Given the description of an element on the screen output the (x, y) to click on. 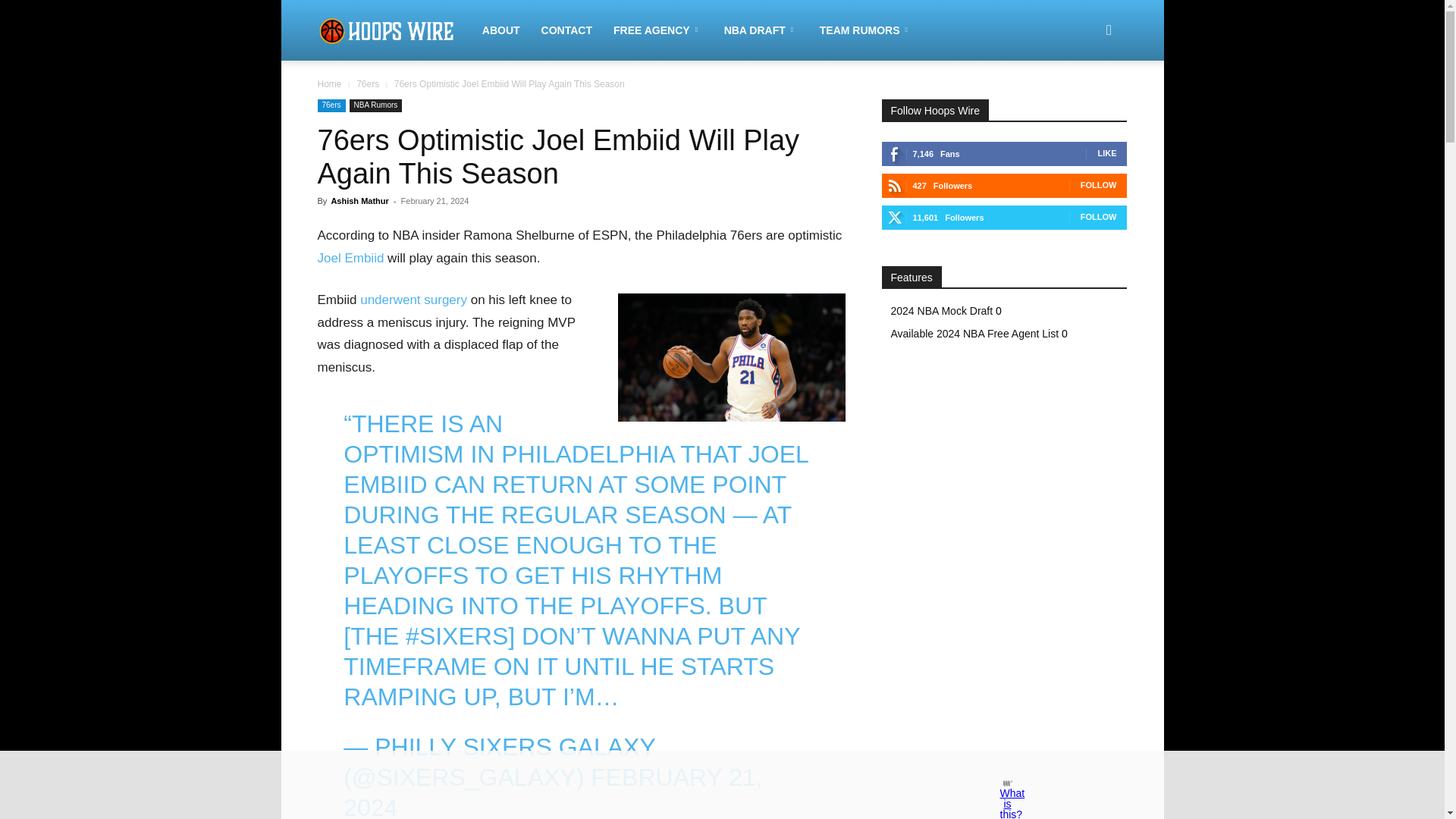
View all posts in 76ers (367, 83)
